Given the description of an element on the screen output the (x, y) to click on. 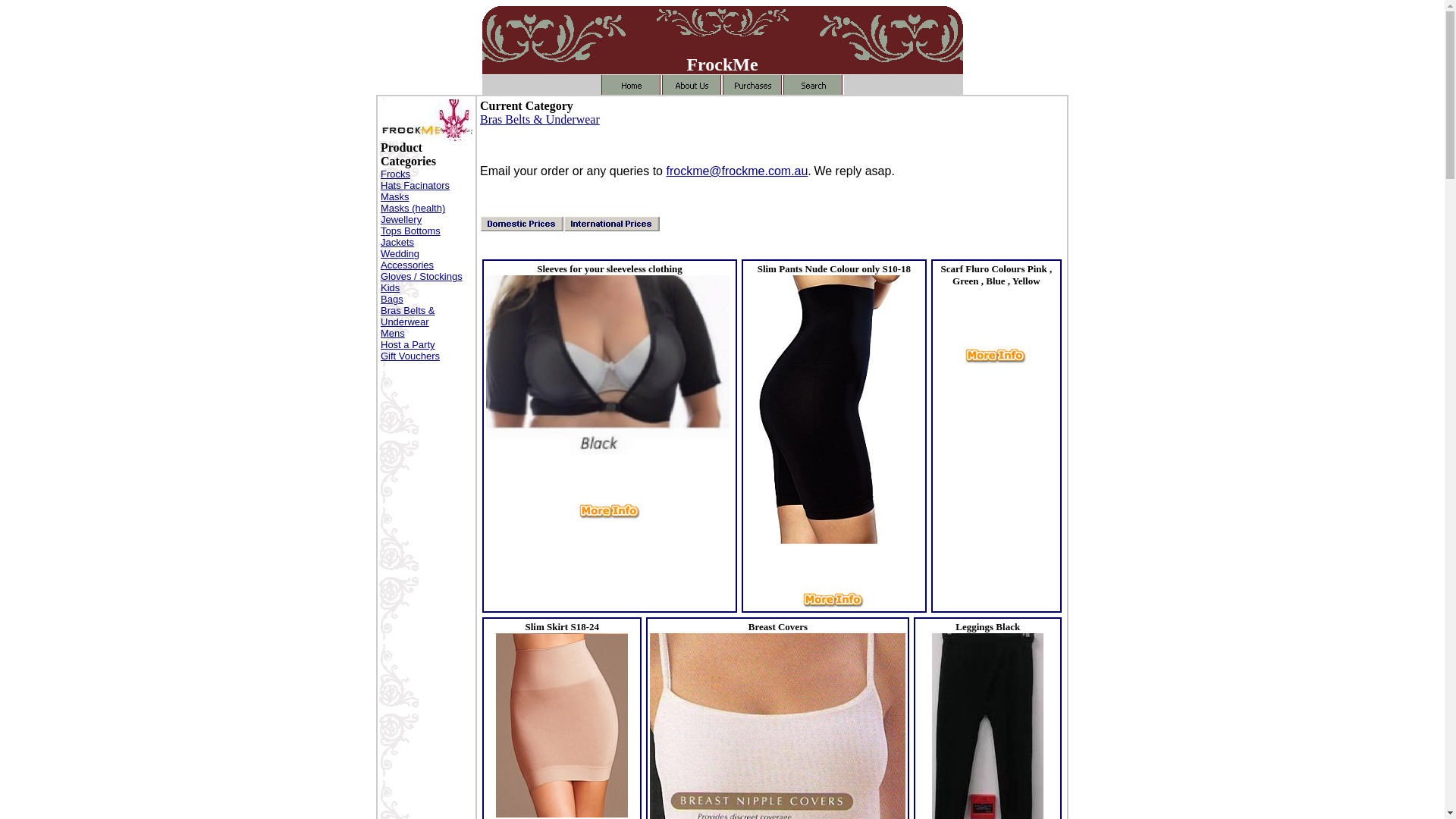
Wedding Accessories Element type: text (406, 258)
Bras Belts & Underwear Element type: text (539, 118)
frockme@frockme.com.au Element type: text (736, 170)
Frocks Element type: text (395, 173)
Bags Element type: text (391, 298)
Hats Facinators Masks Element type: text (414, 190)
Host a Party Element type: text (407, 344)
Masks (health) Element type: text (412, 207)
Kids Element type: text (389, 287)
Tops Bottoms Jackets Element type: text (410, 236)
Mens Element type: text (392, 332)
Gift Vouchers Element type: text (409, 355)
Jewellery Element type: text (400, 219)
Gloves / Stockings Element type: text (421, 276)
Bras Belts & Underwear Element type: text (407, 315)
